Given the description of an element on the screen output the (x, y) to click on. 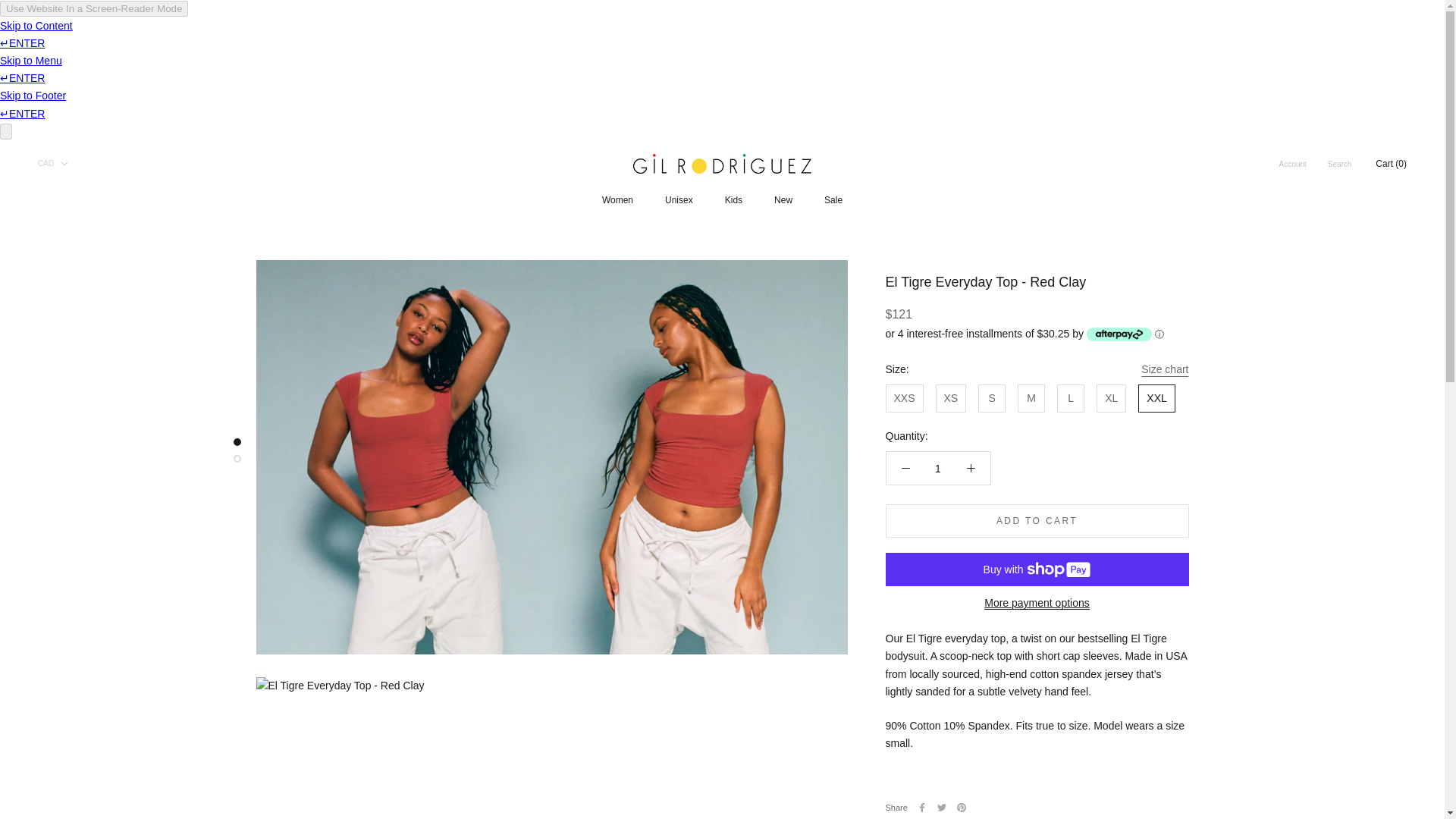
1 (938, 468)
Currency selector (52, 162)
